Given the description of an element on the screen output the (x, y) to click on. 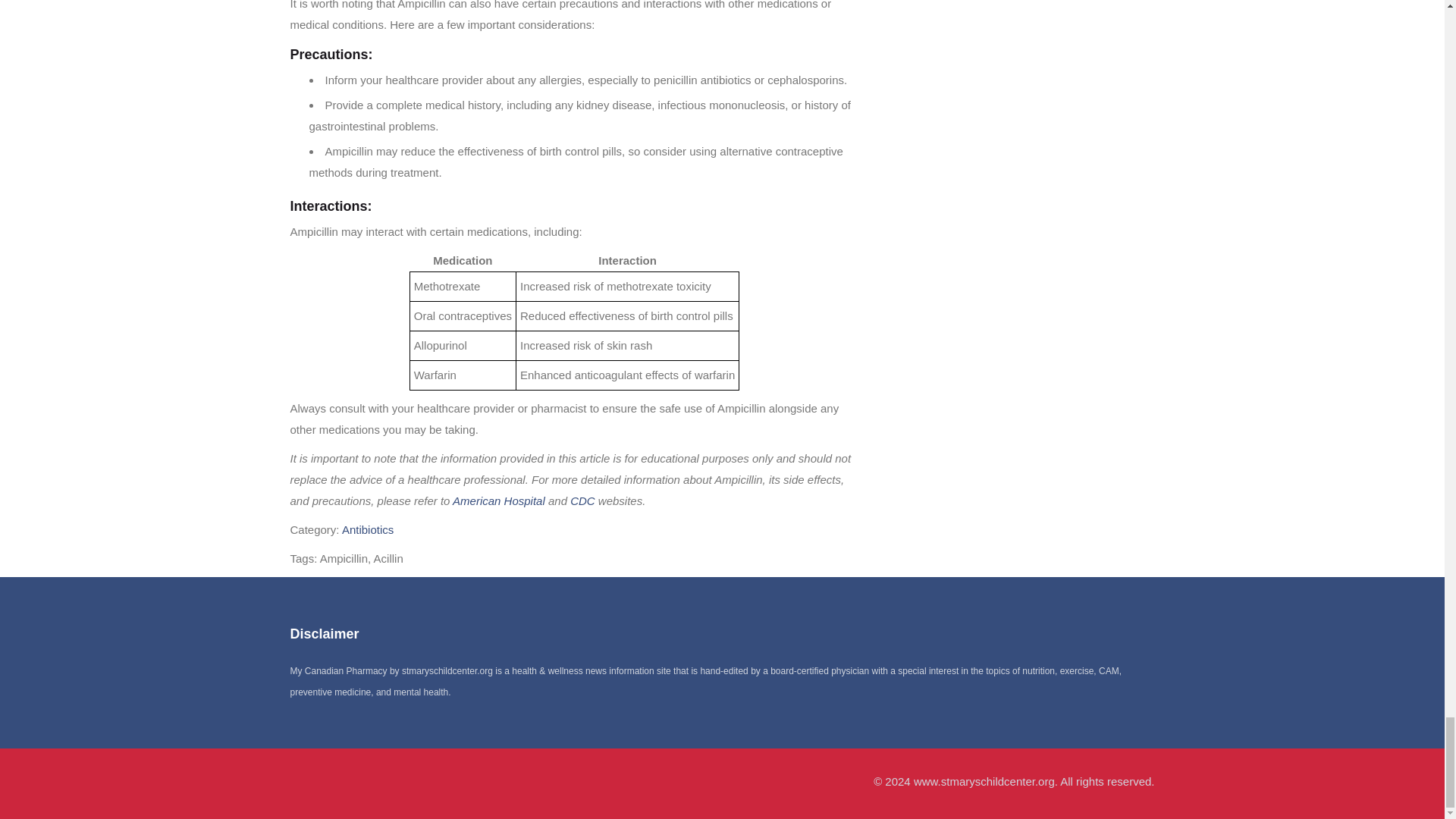
American Hospital (498, 500)
Antibiotics (367, 529)
CDC (582, 500)
